Given the description of an element on the screen output the (x, y) to click on. 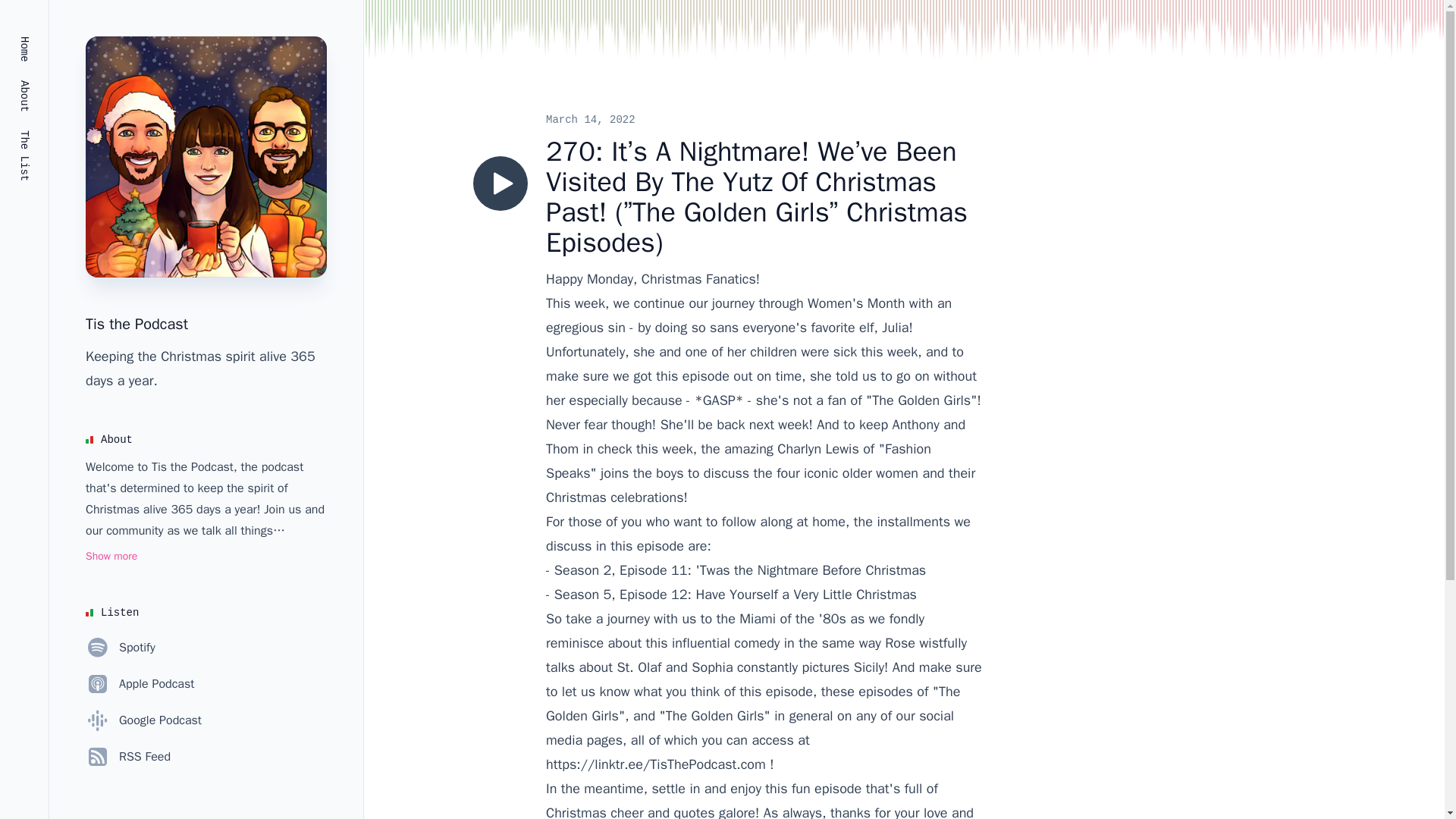
Show more (110, 556)
Spotify (120, 647)
Google Podcast (143, 720)
Apple Podcast (139, 683)
RSS Feed (127, 756)
Tis the Podcast (136, 323)
